Given the description of an element on the screen output the (x, y) to click on. 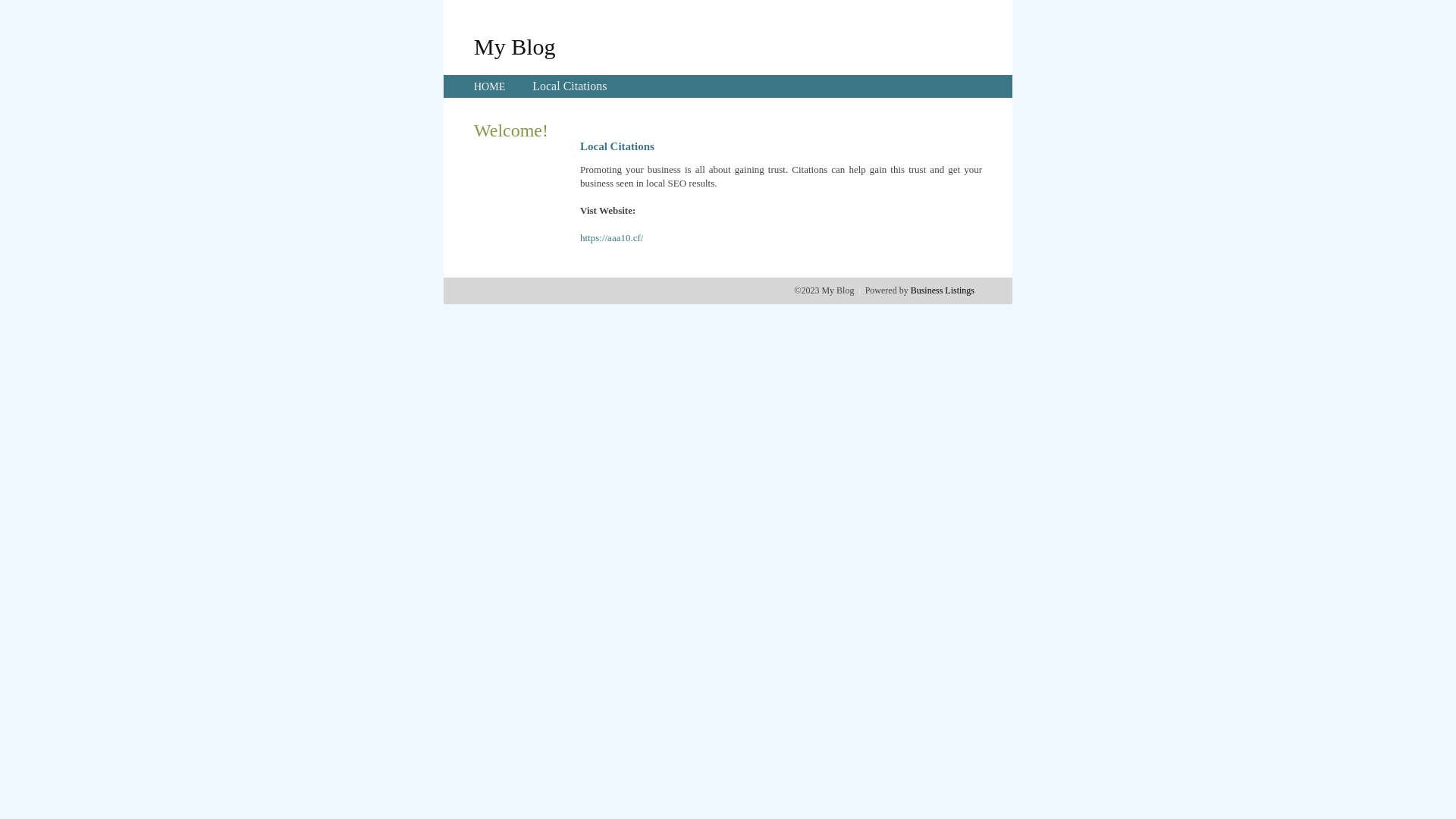
Business Listings Element type: text (942, 290)
Local Citations Element type: text (569, 85)
My Blog Element type: text (514, 46)
https://aaa10.cf/ Element type: text (611, 237)
HOME Element type: text (489, 86)
